Given the description of an element on the screen output the (x, y) to click on. 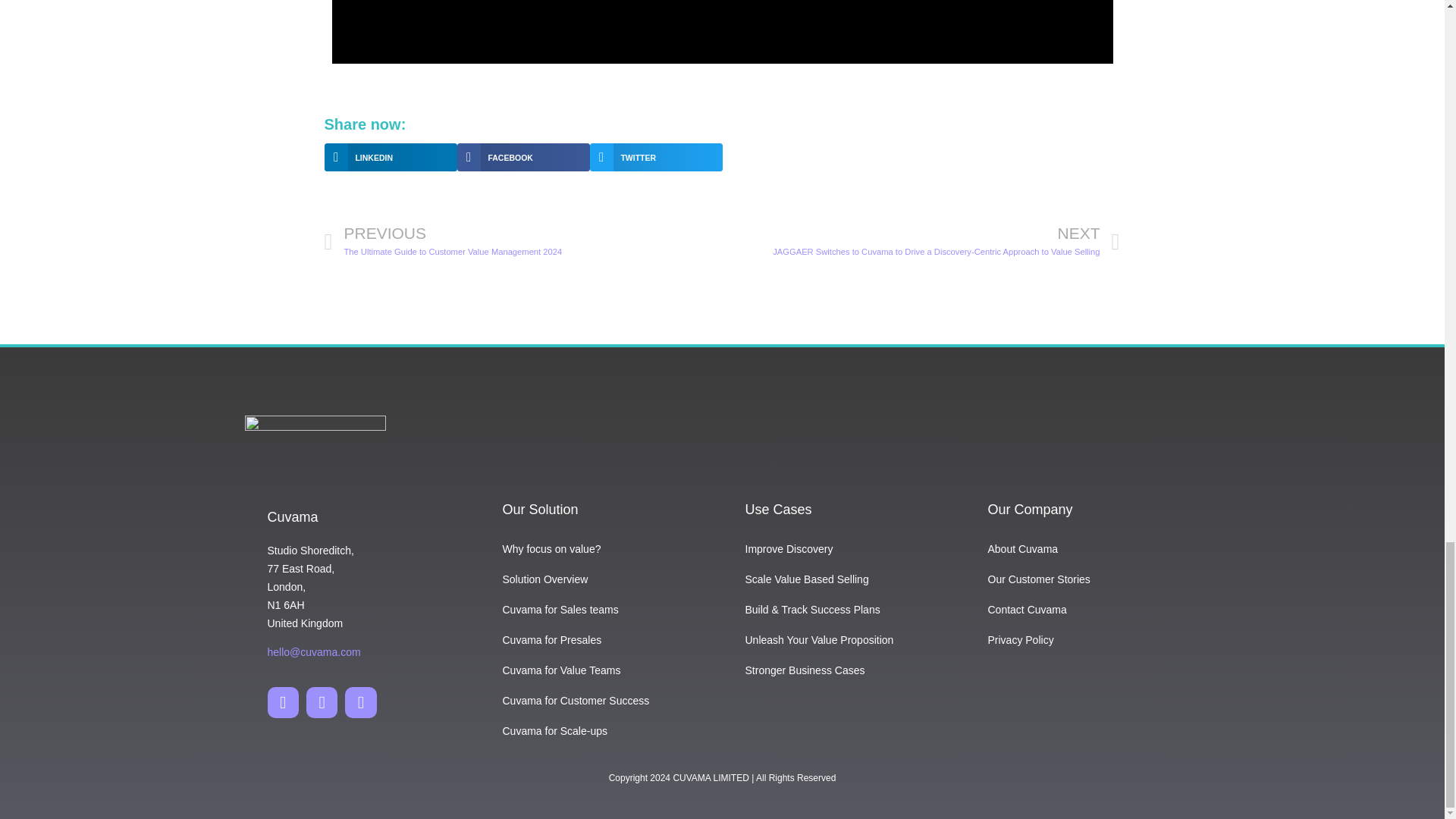
vimeo Video Player (722, 31)
